Given the description of an element on the screen output the (x, y) to click on. 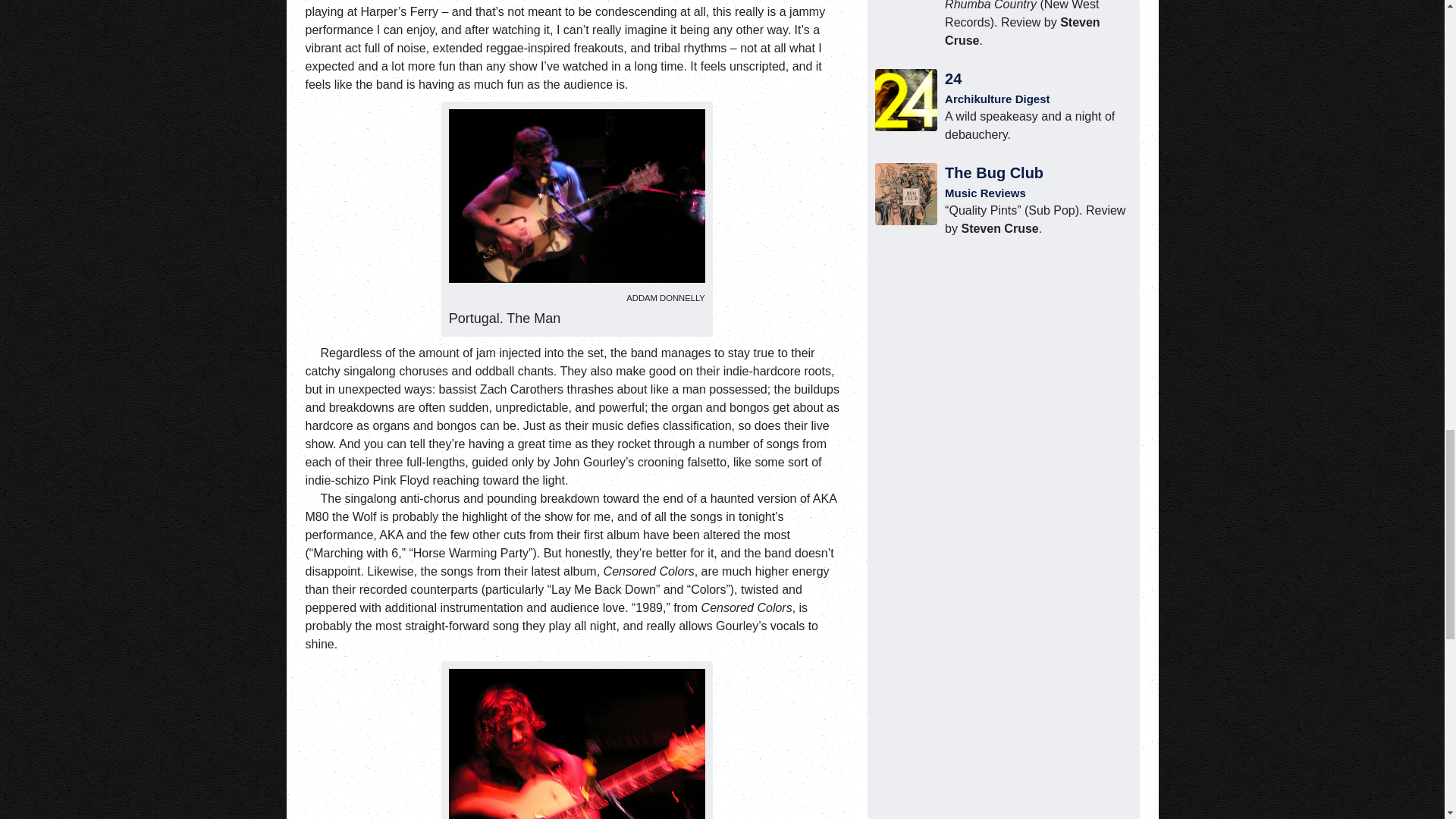
Portugal. The Man (576, 195)
Portugal. The Man (576, 744)
